Given the description of an element on the screen output the (x, y) to click on. 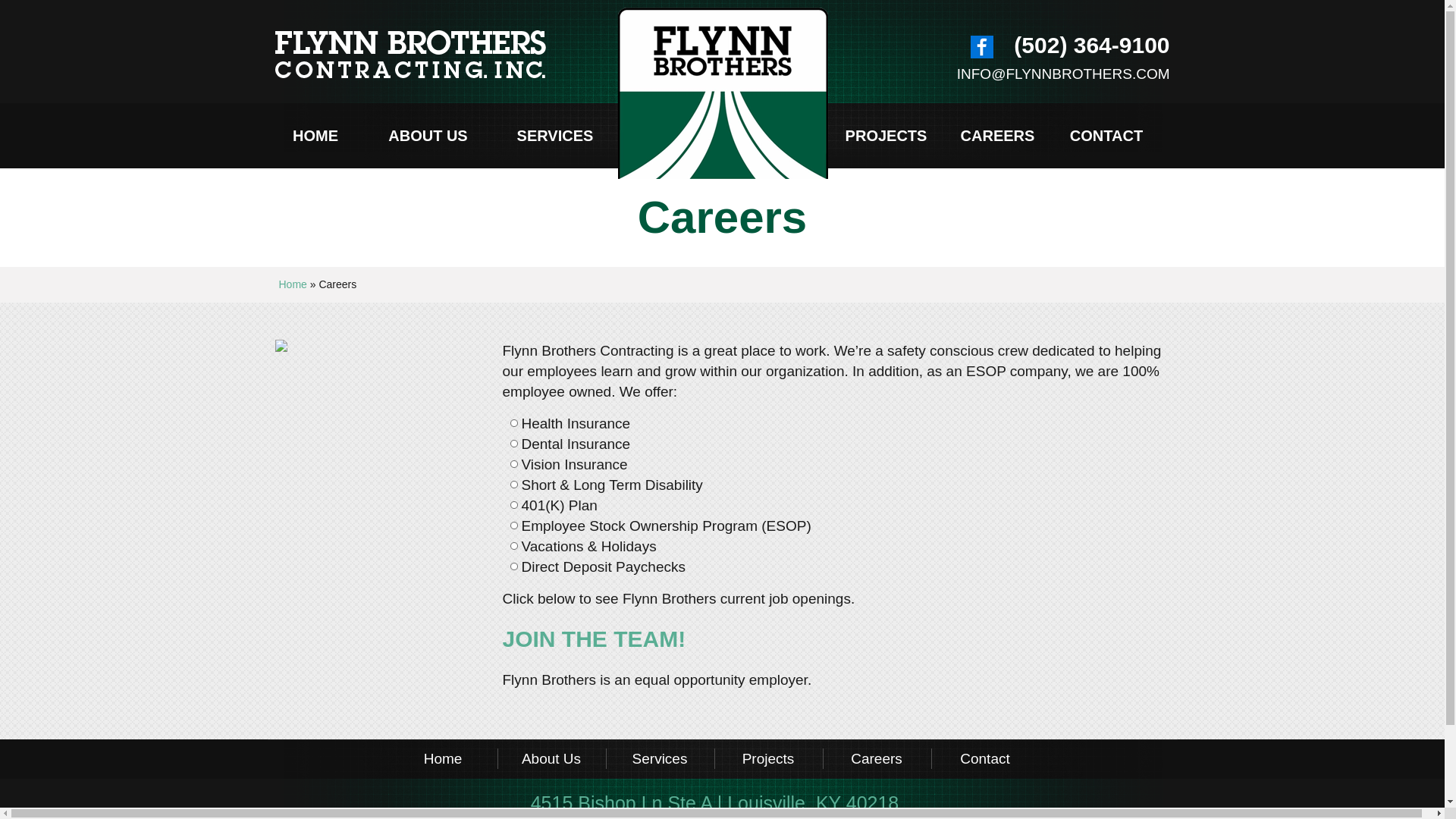
CAREERS (997, 135)
HOME (314, 135)
SERVICES (555, 135)
PROJECTS (886, 135)
ABOUT US (428, 135)
CONTACT (1106, 135)
Flynn Brothers Contracting, Inc. (494, 53)
